Given the description of an element on the screen output the (x, y) to click on. 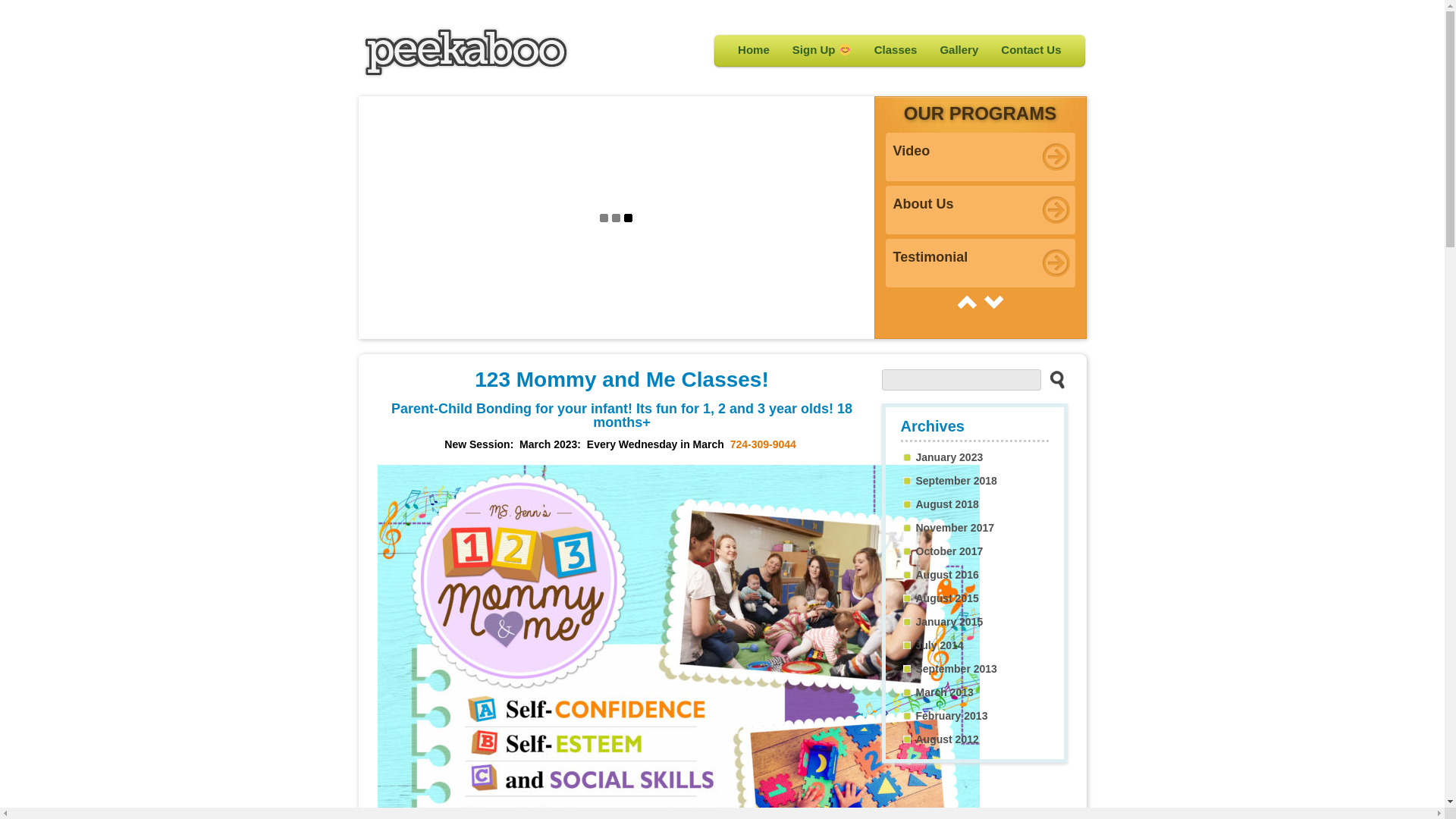
August 2015 Element type: text (947, 598)
October 2017 Element type: text (949, 551)
123 Mommy and Me Element type: hover (465, 74)
724-309-9044  Element type: text (764, 444)
Next Element type: text (993, 301)
Prev Element type: text (966, 301)
August 2016 Element type: text (947, 574)
August 2012 Element type: text (947, 739)
Home Element type: text (753, 49)
Testimonial
  Element type: text (980, 262)
August 2018 Element type: text (947, 504)
Classes Element type: text (895, 49)
March 2013 Element type: text (944, 692)
About Us
  Element type: text (980, 209)
September 2013 Element type: text (956, 668)
January 2015 Element type: text (949, 621)
Video
  Element type: text (980, 156)
Gallery Element type: text (958, 49)
Contact Us Element type: text (1030, 49)
July 2014 Element type: text (939, 645)
Sign Up Element type: text (821, 49)
September 2018 Element type: text (956, 480)
November 2017 Element type: text (955, 527)
January 2023 Element type: text (949, 457)
February 2013 Element type: text (952, 715)
